Given the description of an element on the screen output the (x, y) to click on. 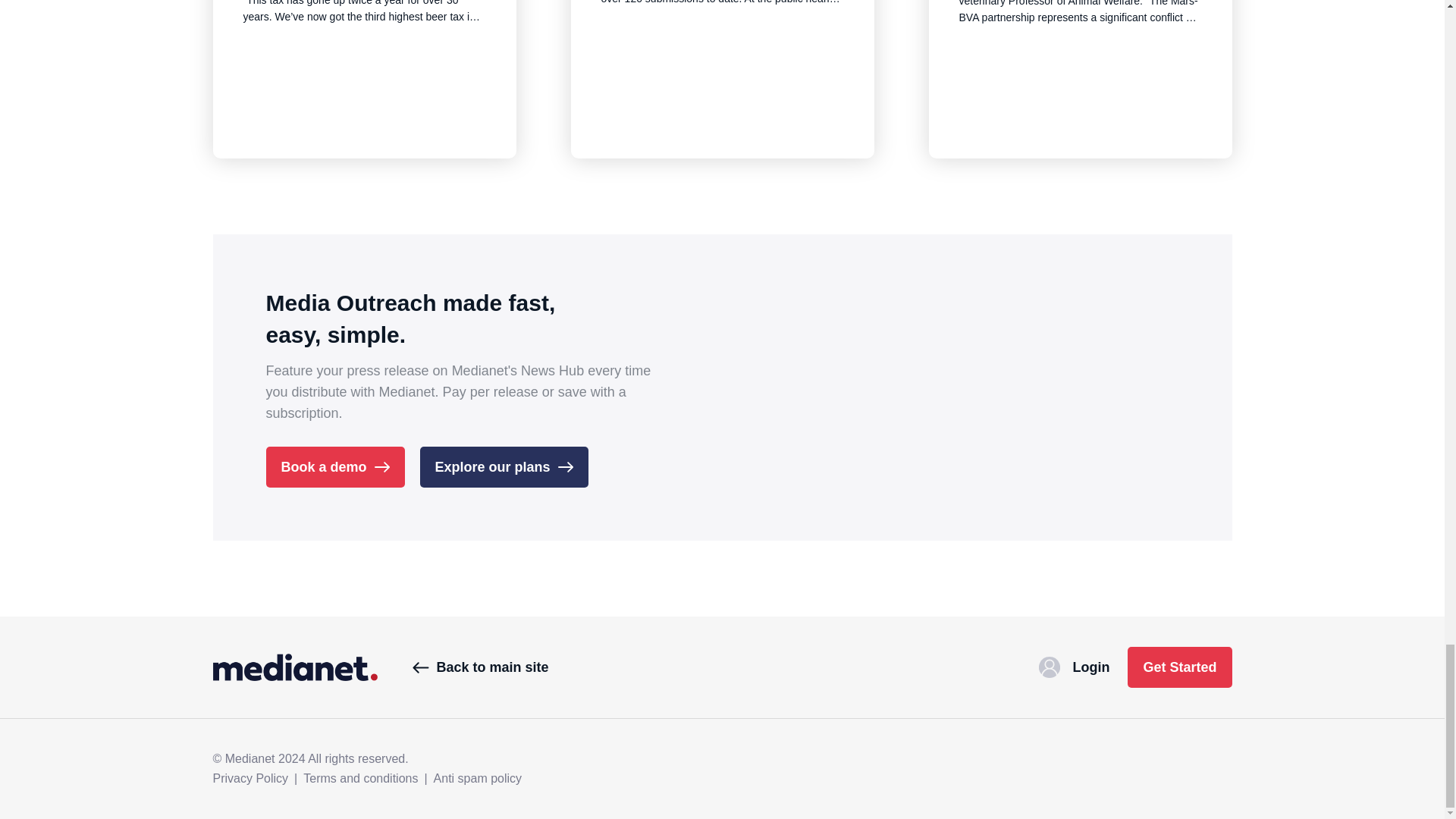
Terms and conditions (359, 778)
Anti spam policy (477, 778)
Back to main site (480, 667)
Explore our plans (504, 466)
News Hub (294, 667)
Login (1074, 667)
Book a demo (334, 466)
Privacy Policy (250, 778)
Get Started (1178, 667)
